Given the description of an element on the screen output the (x, y) to click on. 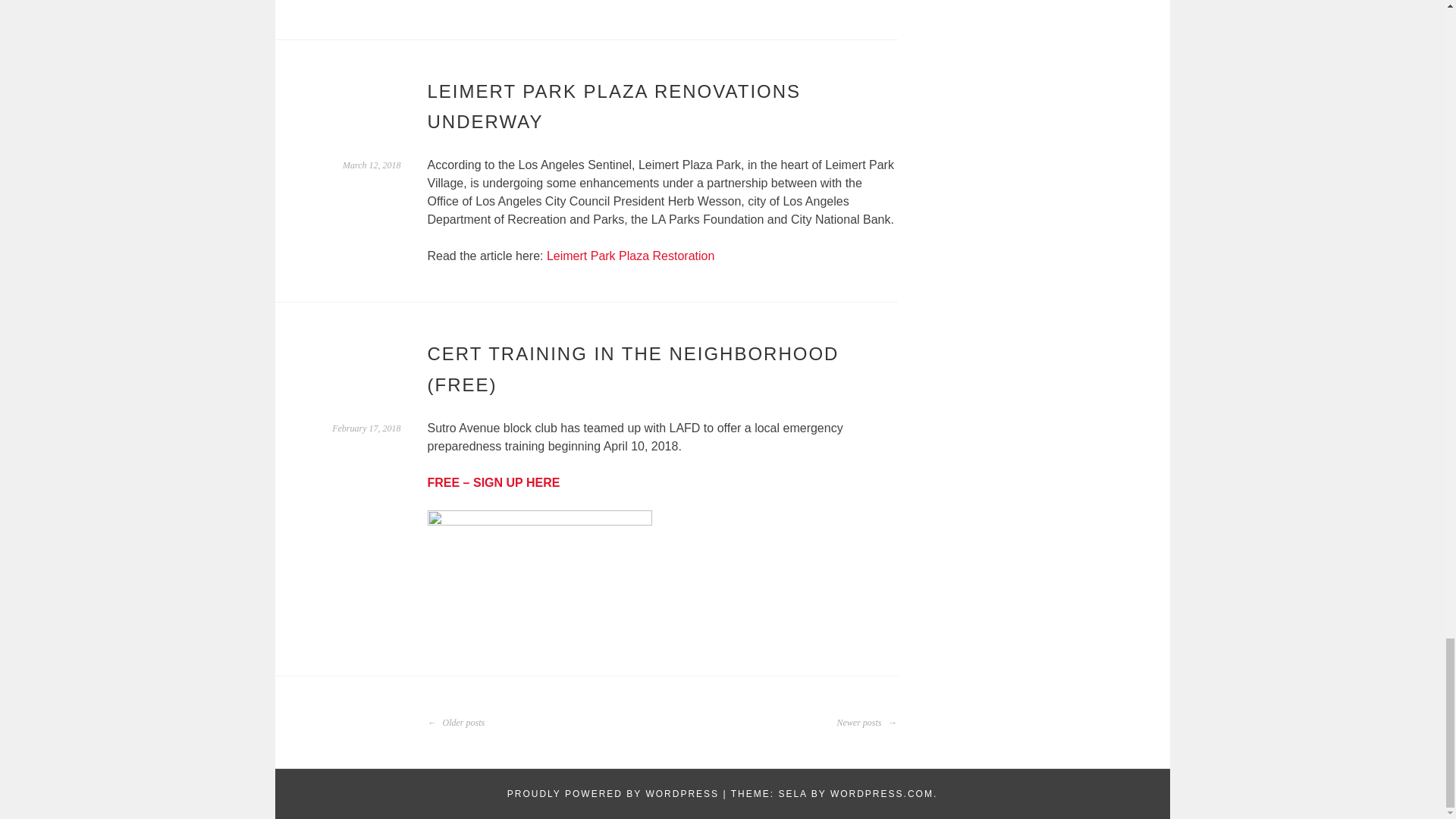
Permalink to Leimert Park Plaza renovations underway (371, 164)
A Semantic Personal Publishing Platform (612, 793)
